Given the description of an element on the screen output the (x, y) to click on. 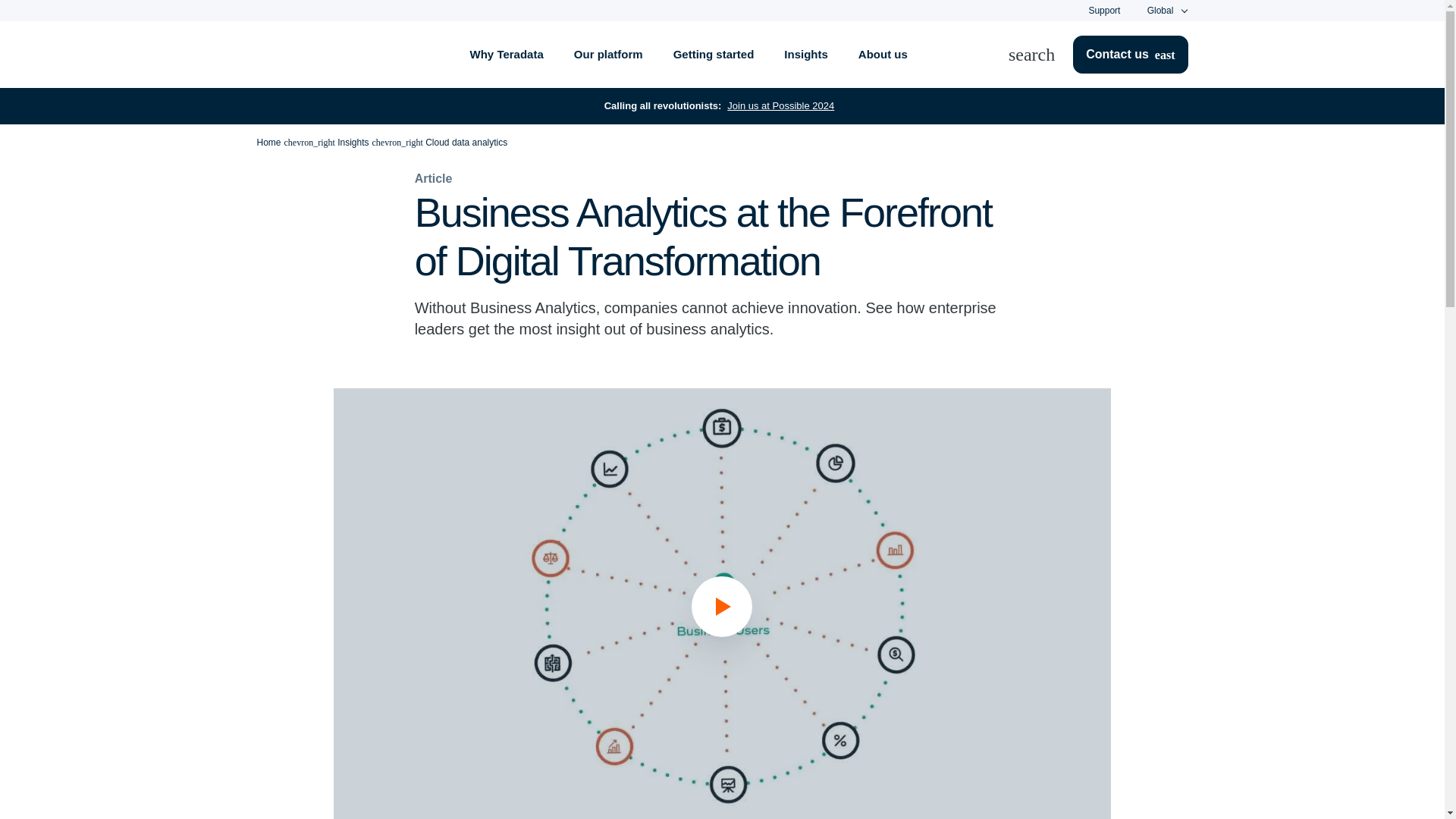
Insights (805, 54)
Getting started (714, 54)
search (1041, 54)
Why Teradata (506, 54)
Our platform (608, 54)
About us (883, 54)
Support (1103, 9)
Global (1160, 10)
Contact us (1130, 54)
